Given the description of an element on the screen output the (x, y) to click on. 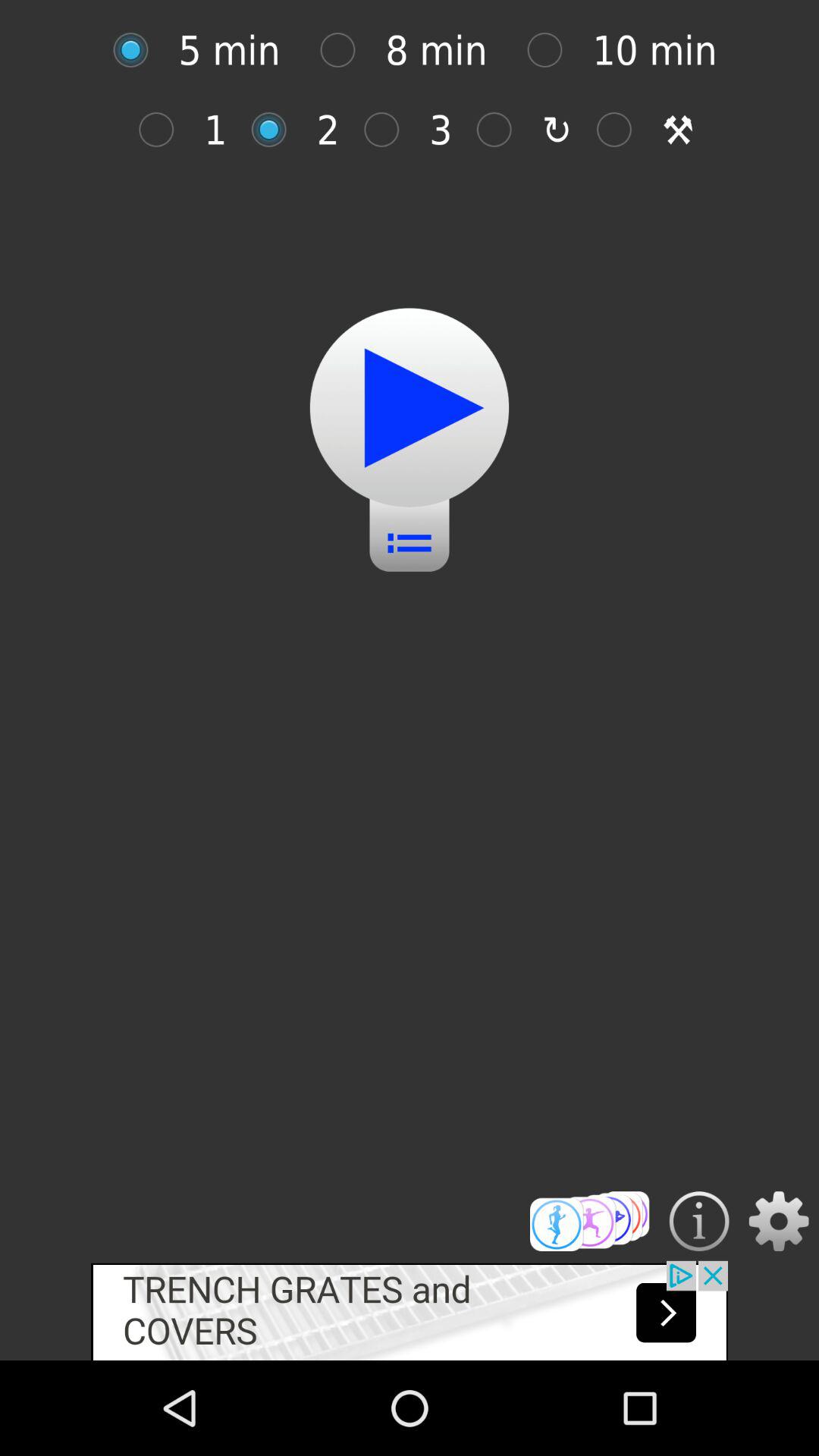
select icon (276, 129)
